Given the description of an element on the screen output the (x, y) to click on. 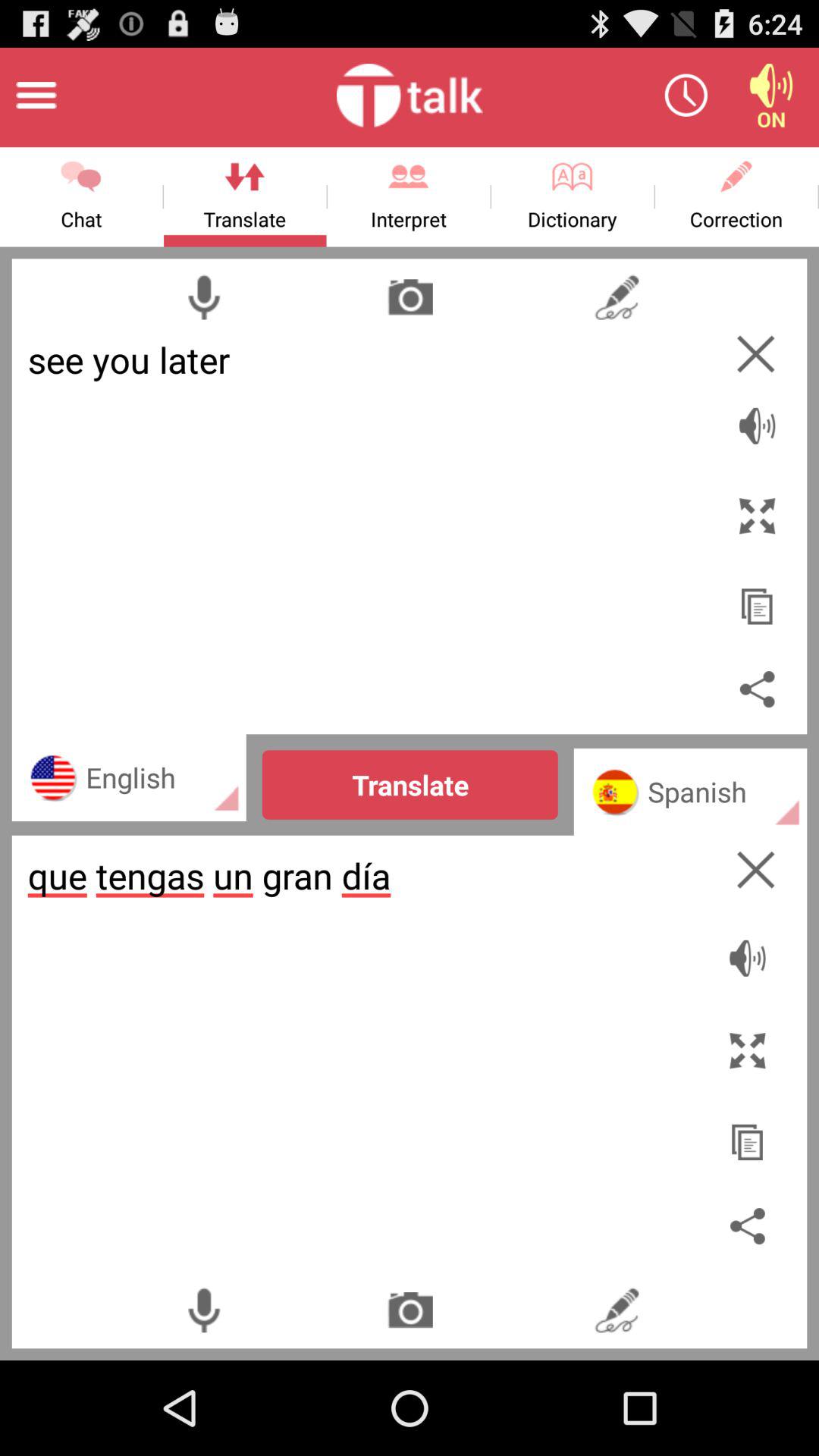
share translation (757, 688)
